Given the description of an element on the screen output the (x, y) to click on. 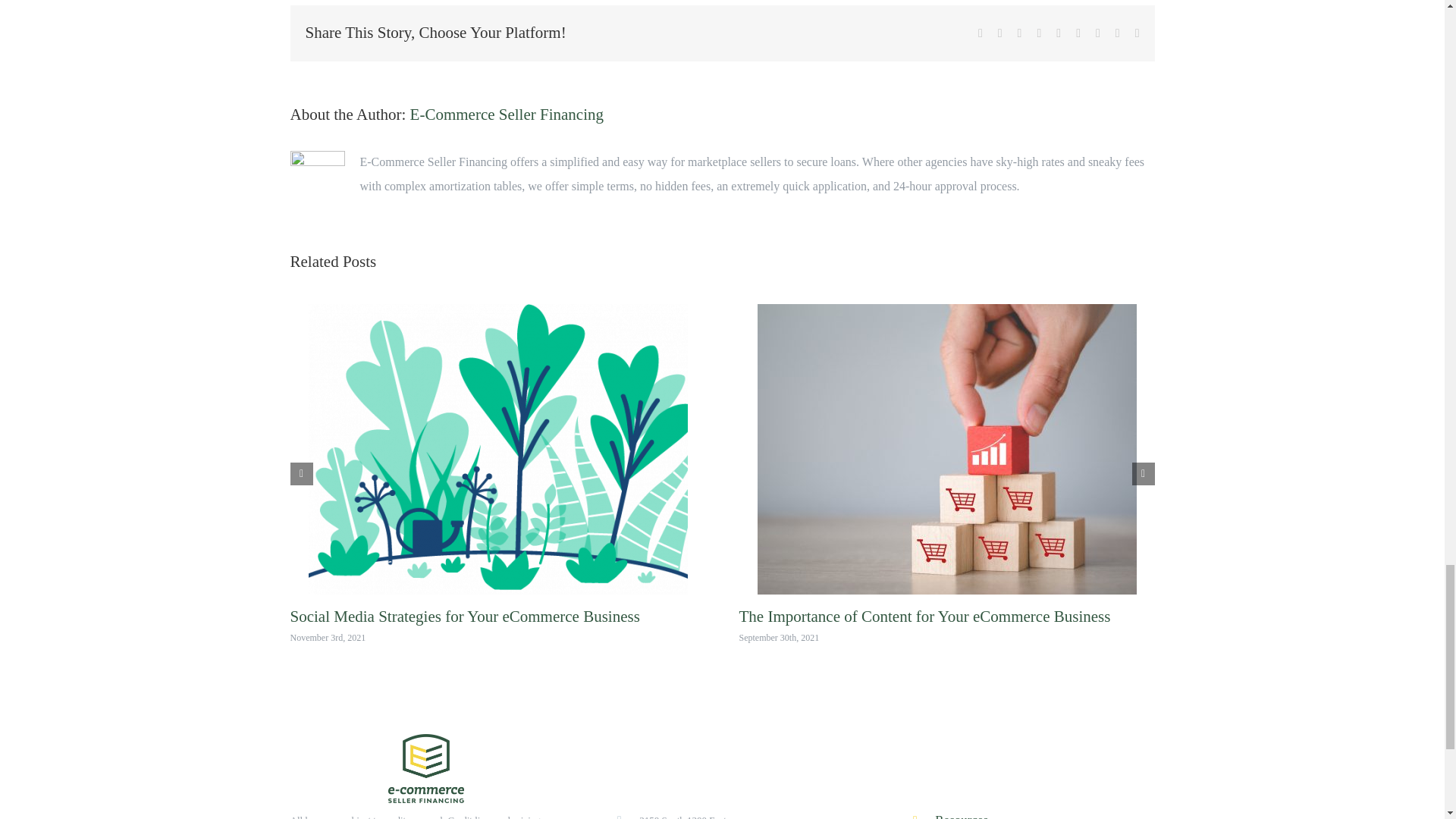
The Importance of Content for Your eCommerce Business (923, 616)
The Importance of Content for Your eCommerce Business (923, 616)
E-Commerce Seller Financing (507, 114)
Social Media Strategies for Your eCommerce Business (464, 616)
Social Media Strategies for Your eCommerce Business (464, 616)
Posts by E-Commerce Seller Financing (507, 114)
